Given the description of an element on the screen output the (x, y) to click on. 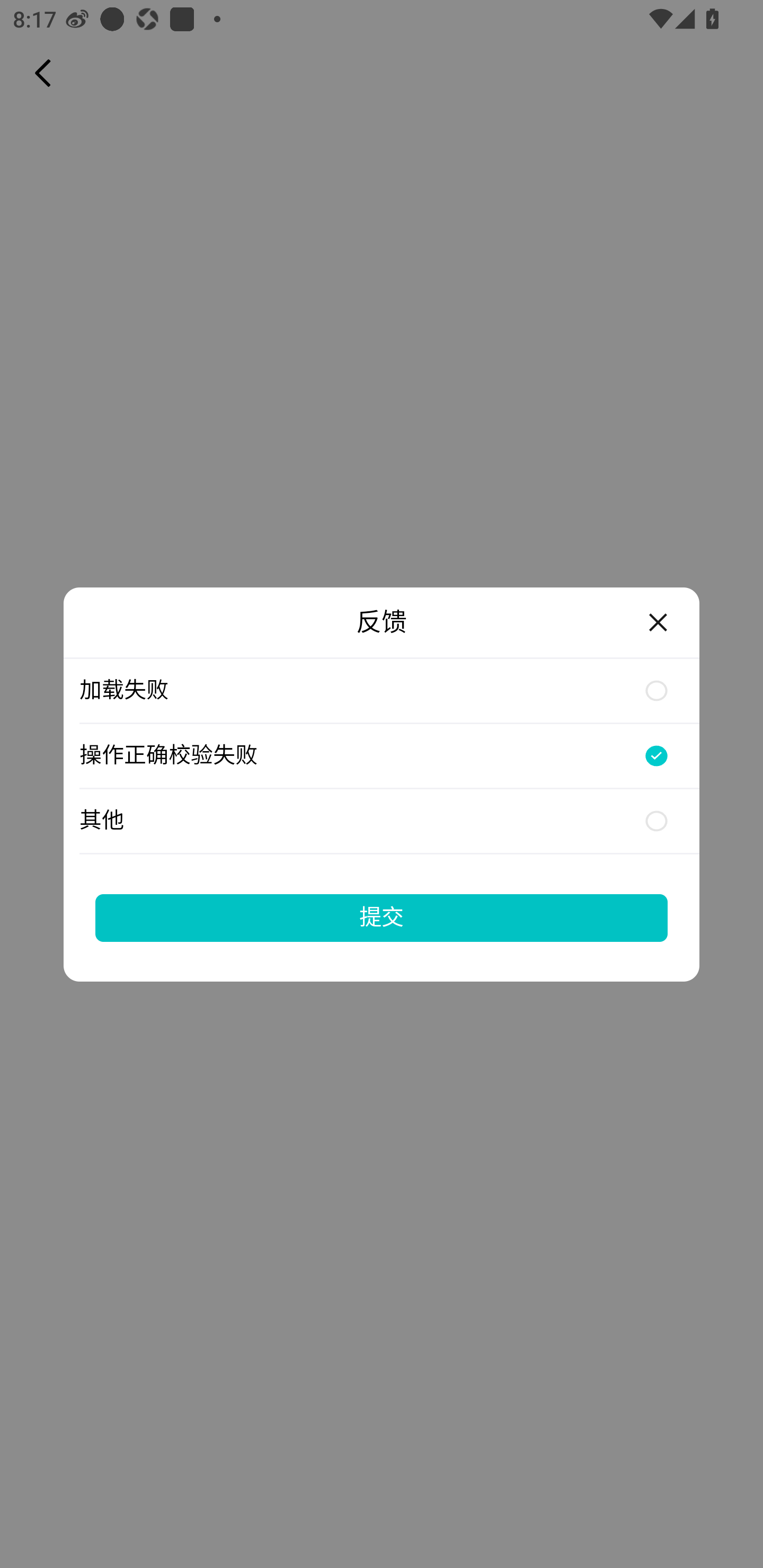
提交 (381, 917)
